Given the description of an element on the screen output the (x, y) to click on. 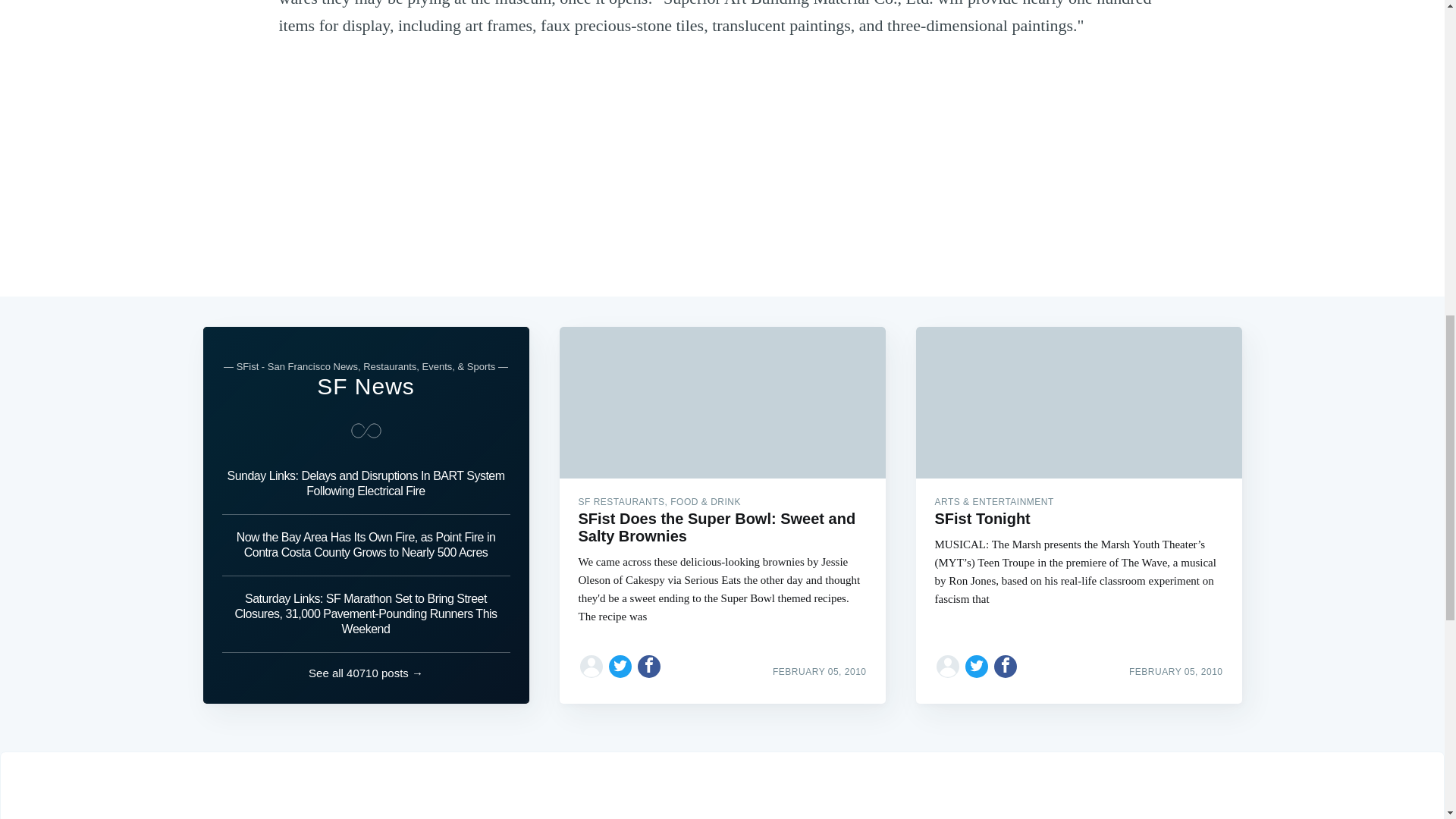
Share on Facebook (1004, 666)
Share on Twitter (620, 666)
Share on Twitter (976, 666)
SF News (365, 385)
Share on Facebook (649, 666)
